Given the description of an element on the screen output the (x, y) to click on. 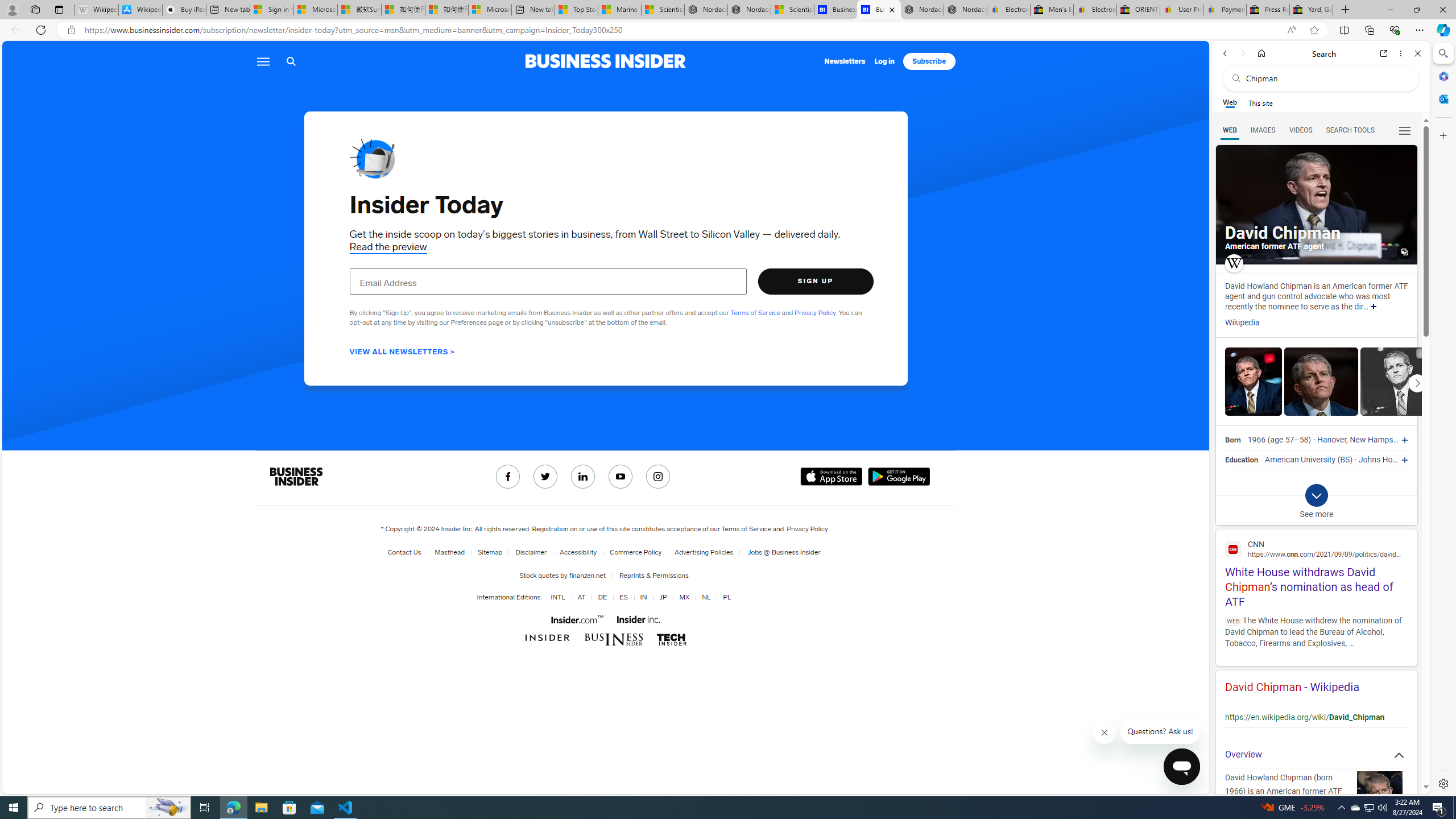
Sitemap (487, 552)
Log in (883, 61)
Accessibility (575, 552)
SIGN UP (815, 280)
Click to visit our YouTube channel (620, 476)
Menu (262, 61)
Commerce Policy (632, 552)
Newsletters (845, 61)
